Given the description of an element on the screen output the (x, y) to click on. 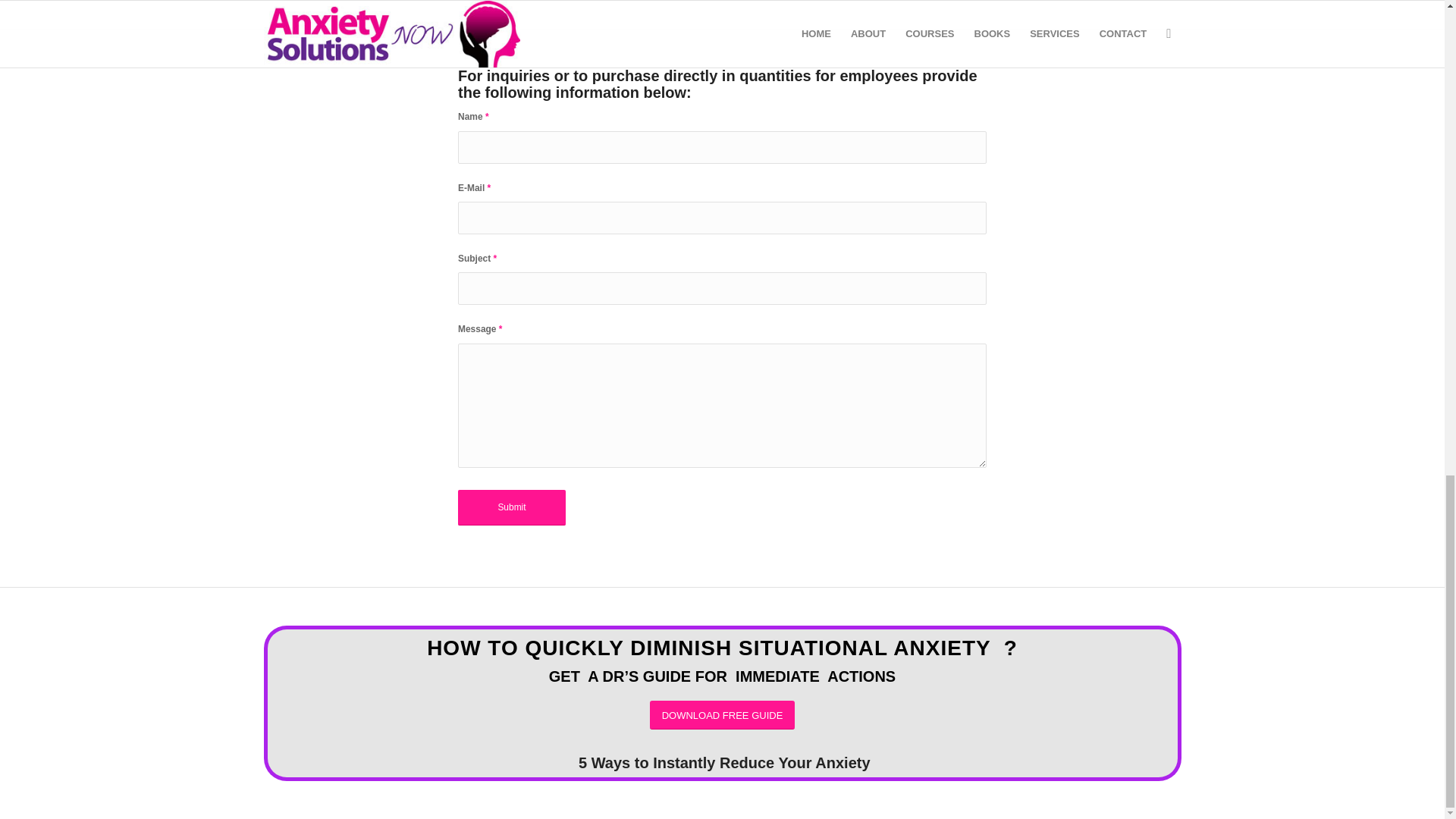
Submit (512, 507)
DOWNLOAD FREE GUIDE (721, 715)
Submit (512, 507)
